Given the description of an element on the screen output the (x, y) to click on. 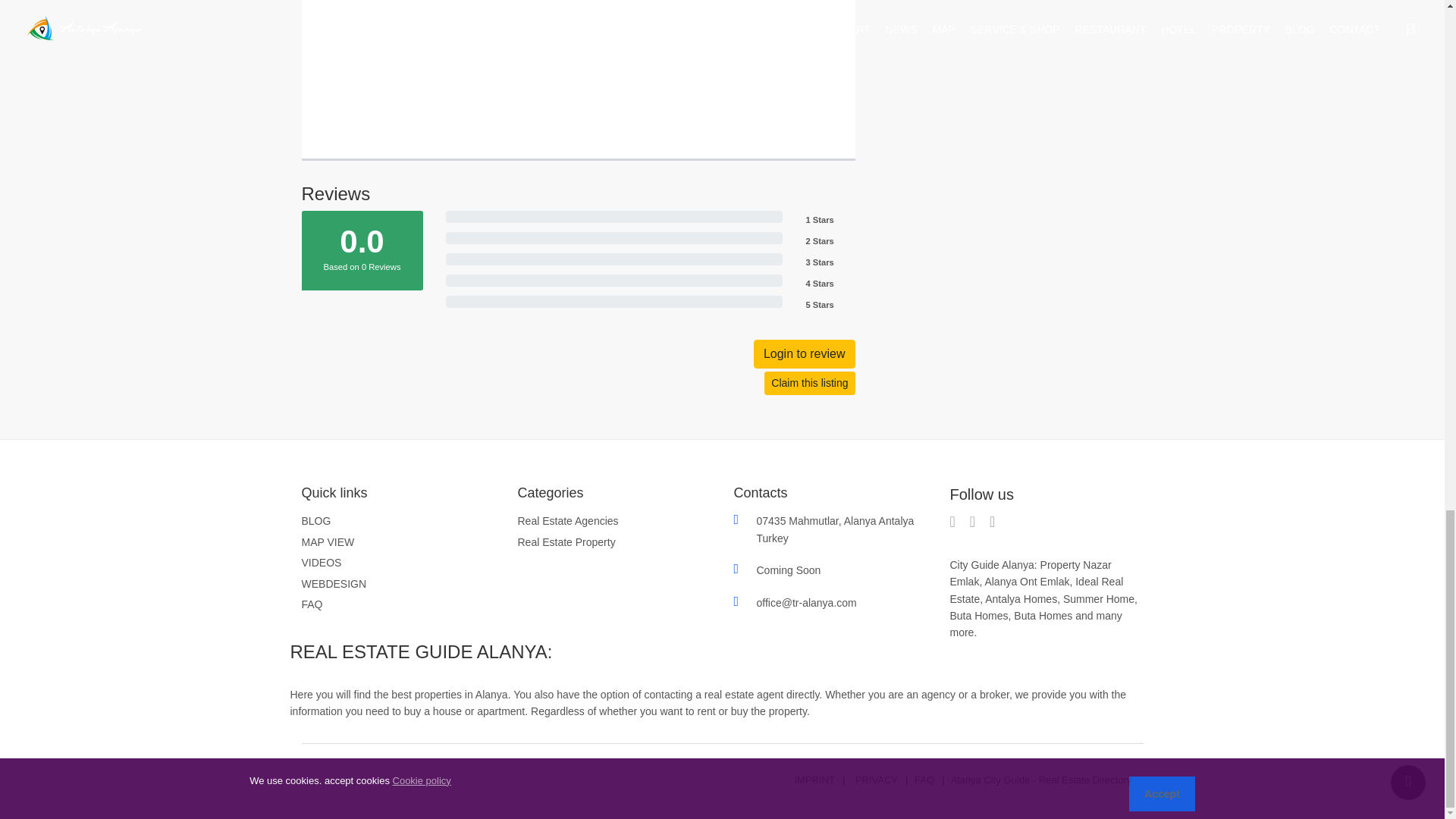
Login to review (805, 353)
Real Estate Property (565, 541)
WEBDESIGN (333, 583)
MAP VIEW (328, 541)
Categories (613, 493)
Quick links (398, 493)
Claim this listing (809, 382)
VIDEOS (321, 562)
FAQ (312, 604)
Real Estate Agencies (566, 520)
BLOG (316, 520)
